Given the description of an element on the screen output the (x, y) to click on. 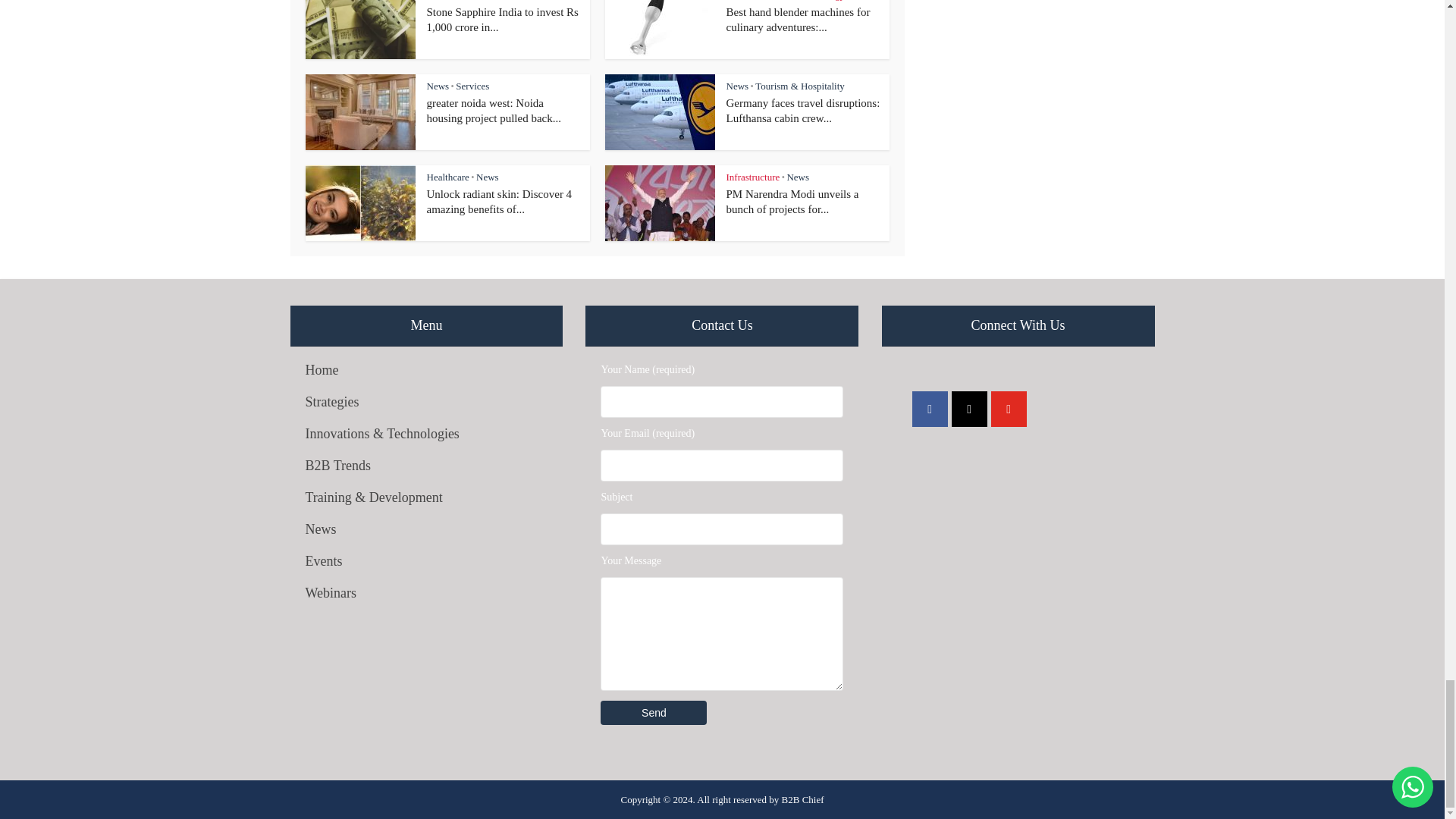
YouTube (1008, 408)
Instagram (969, 408)
Facebook (929, 408)
Send (652, 712)
